Given the description of an element on the screen output the (x, y) to click on. 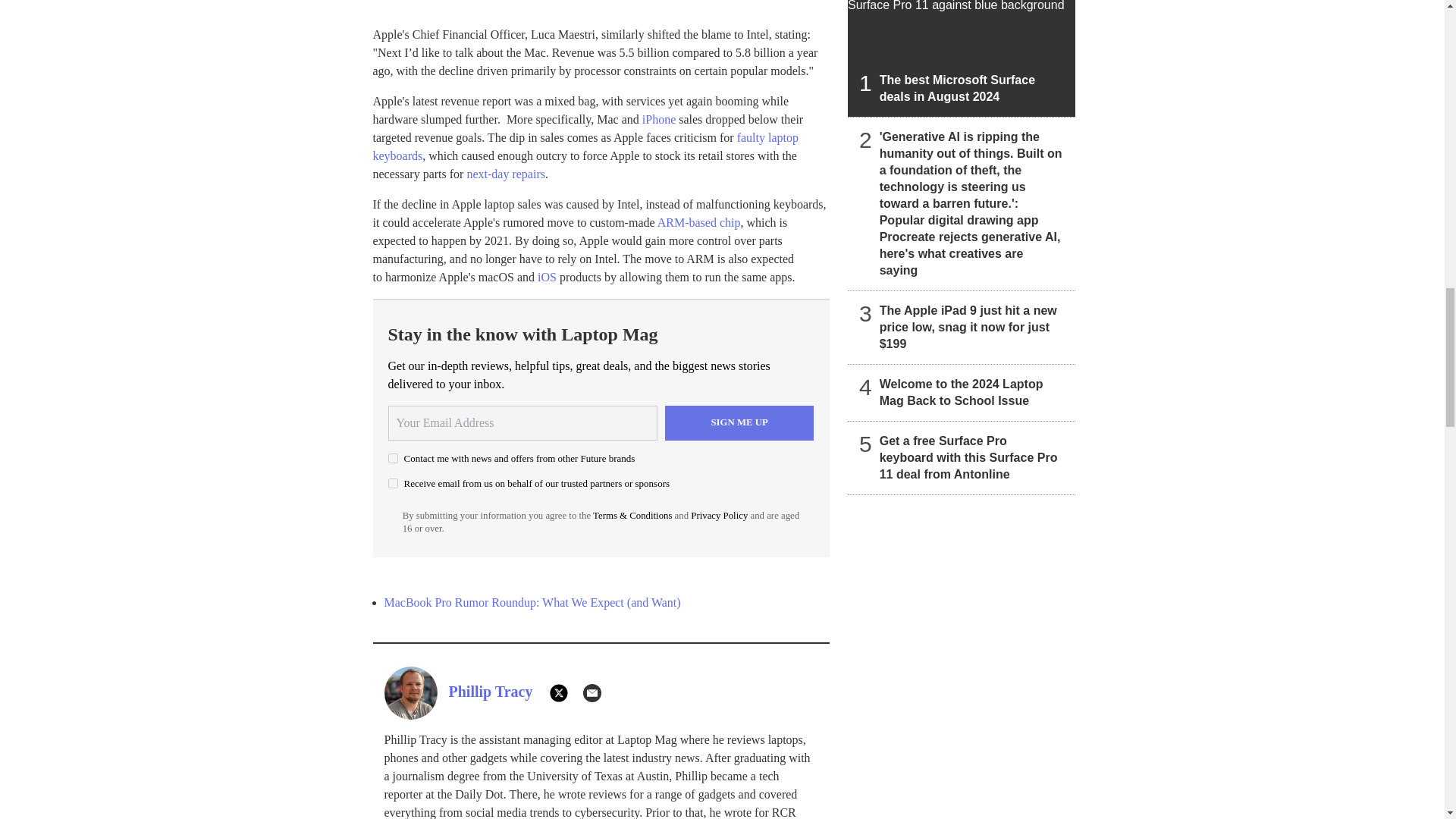
Sign me up (739, 422)
on (392, 483)
on (392, 458)
The best Microsoft Surface deals in August 2024 (961, 58)
